Given the description of an element on the screen output the (x, y) to click on. 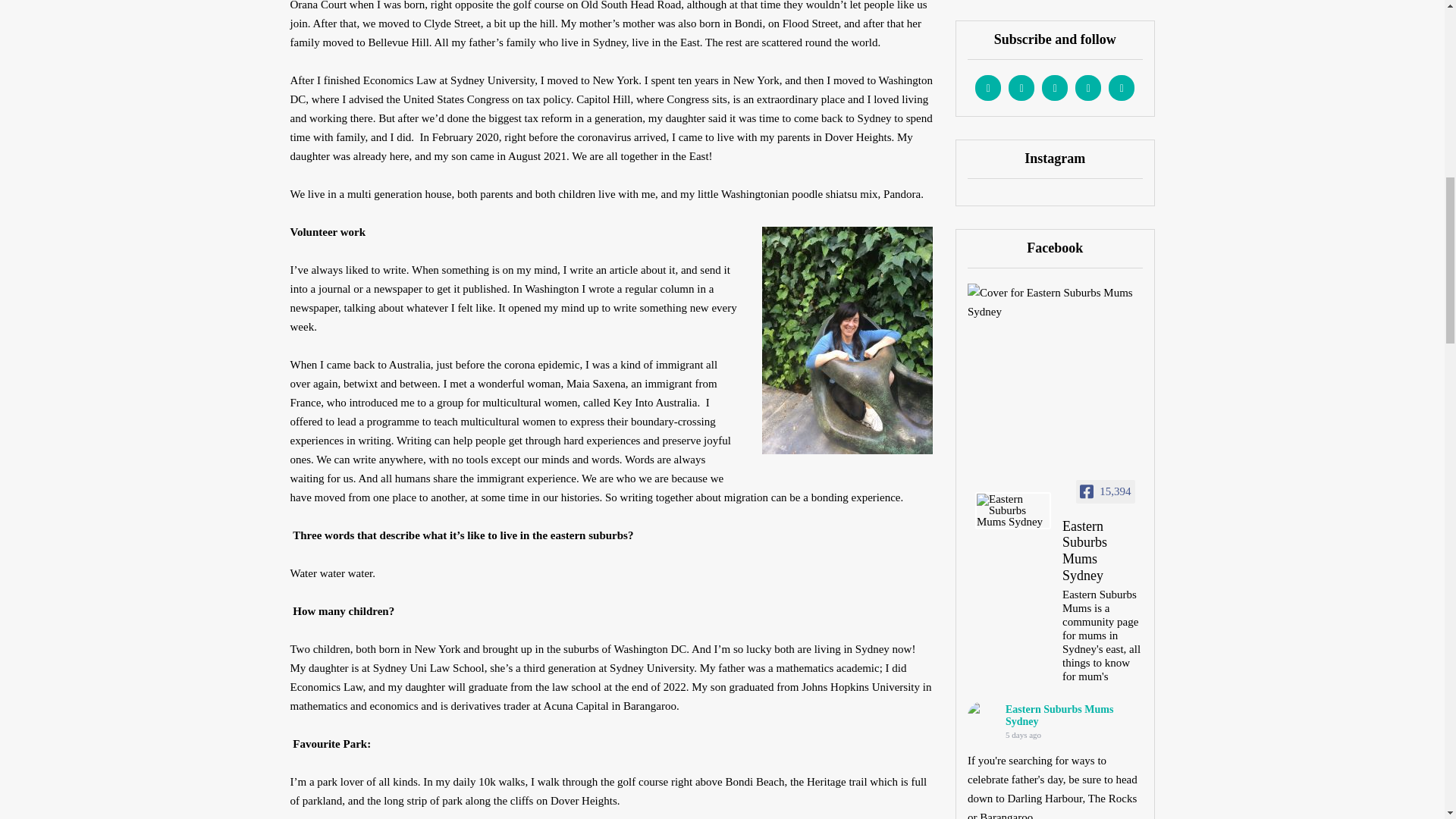
Eastern Suburbs Mums Sydney (982, 716)
Eastern Suburbs Mums Sydney (1102, 553)
Eastern Suburbs Mums Sydney (1013, 510)
